Given the description of an element on the screen output the (x, y) to click on. 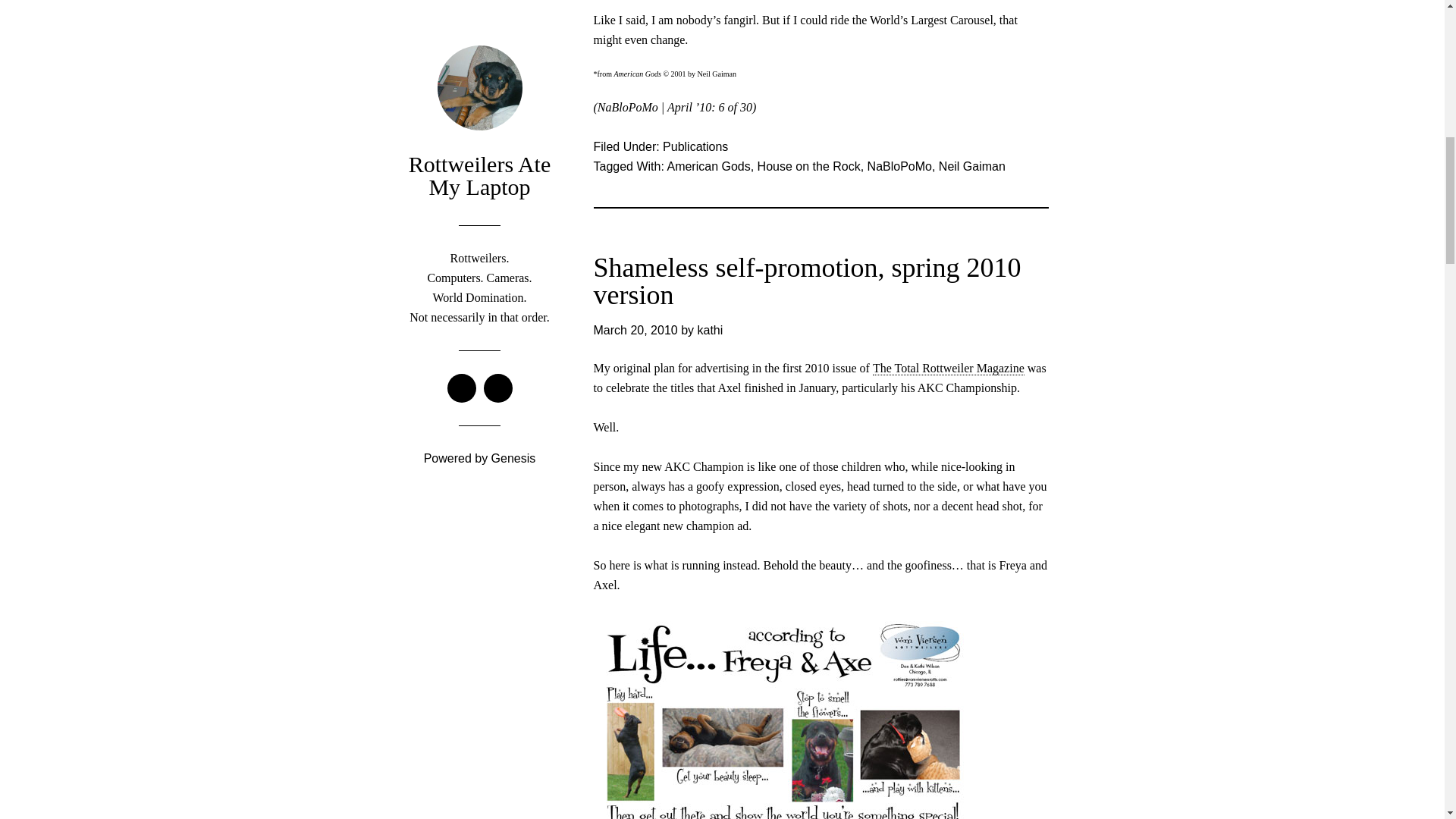
Shameless self-promotion, spring 2010 version (806, 281)
House on the Rock (808, 165)
American Gods (707, 165)
kathi (709, 329)
Publications (695, 146)
NaBloPoMo (899, 165)
The Total Rottweiler Magazine (948, 368)
Neil Gaiman (972, 165)
